Given the description of an element on the screen output the (x, y) to click on. 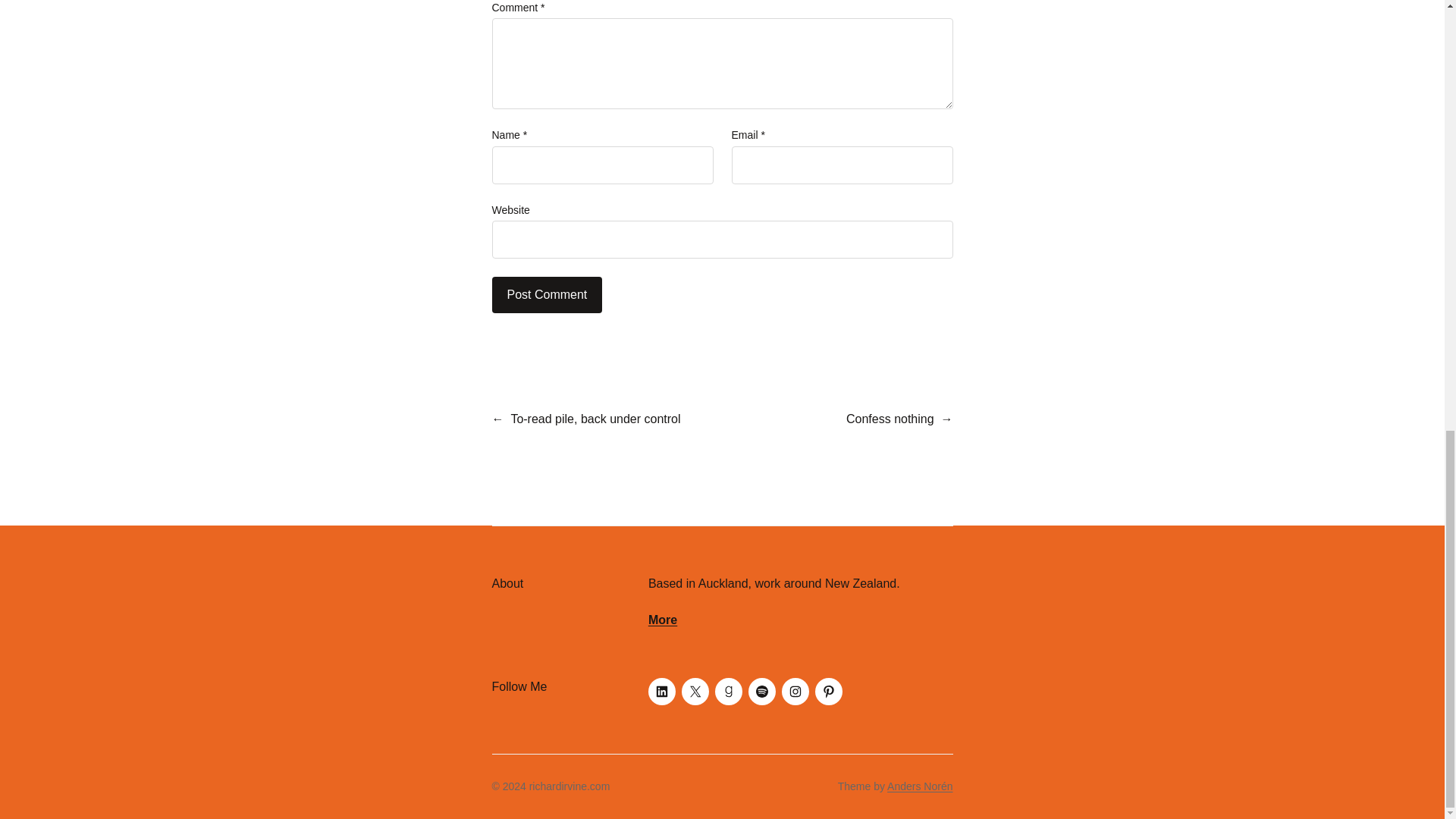
More (662, 619)
Pinterest (829, 691)
LinkedIn (661, 691)
Goodreads (728, 691)
Confess nothing (889, 418)
Instagram (795, 691)
Post Comment (547, 294)
Spotify (762, 691)
X (695, 691)
Post Comment (547, 294)
